Given the description of an element on the screen output the (x, y) to click on. 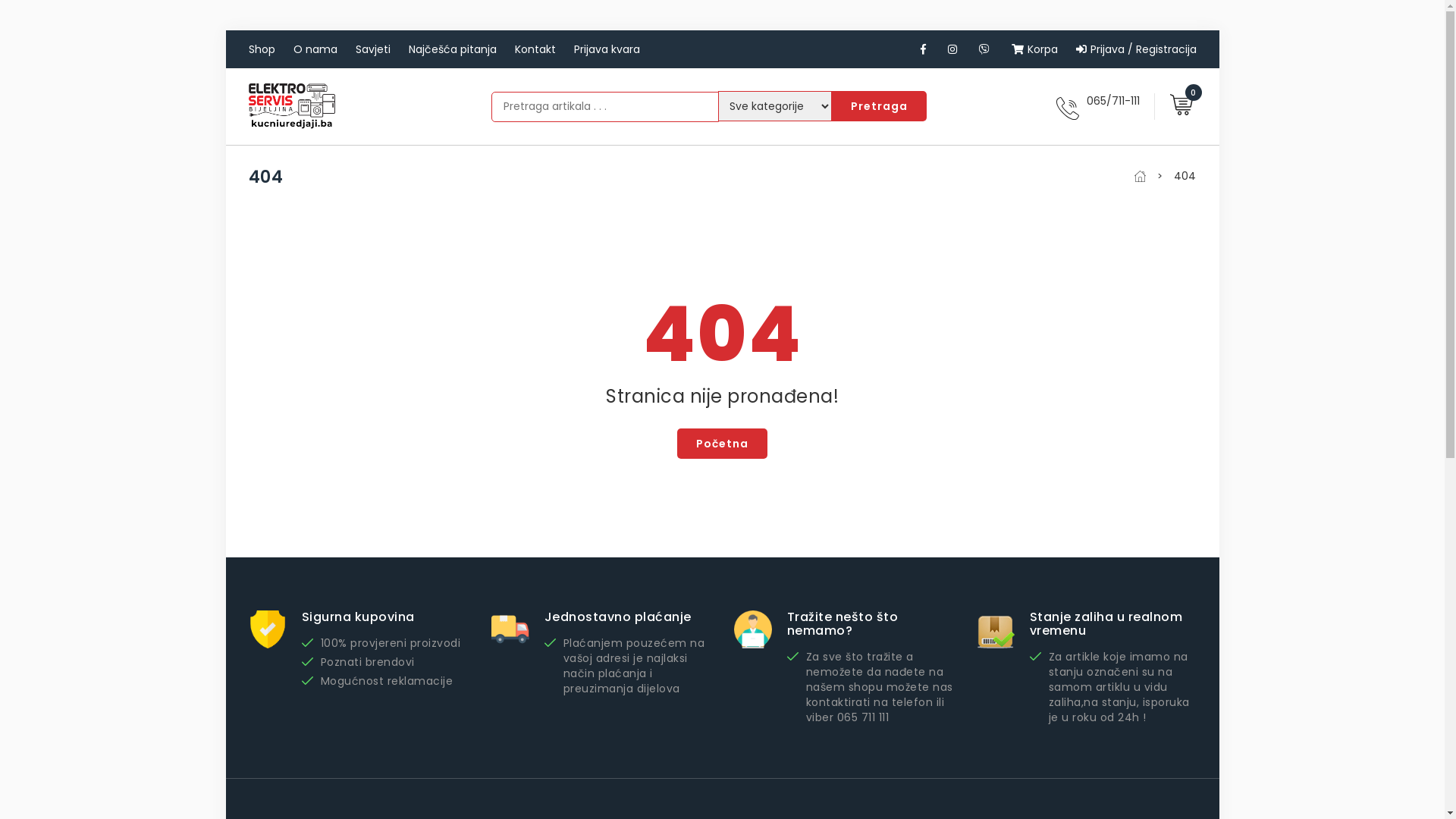
Kontakt Element type: text (534, 48)
Korpa Element type: text (1034, 48)
Prijava / Registracija Element type: text (1135, 48)
Pretraga Element type: text (878, 106)
O nama Element type: text (314, 48)
Prijava kvara Element type: text (606, 48)
Savjeti Element type: text (371, 48)
065/711-111 Element type: text (1112, 100)
Shop Element type: text (261, 48)
